Given the description of an element on the screen output the (x, y) to click on. 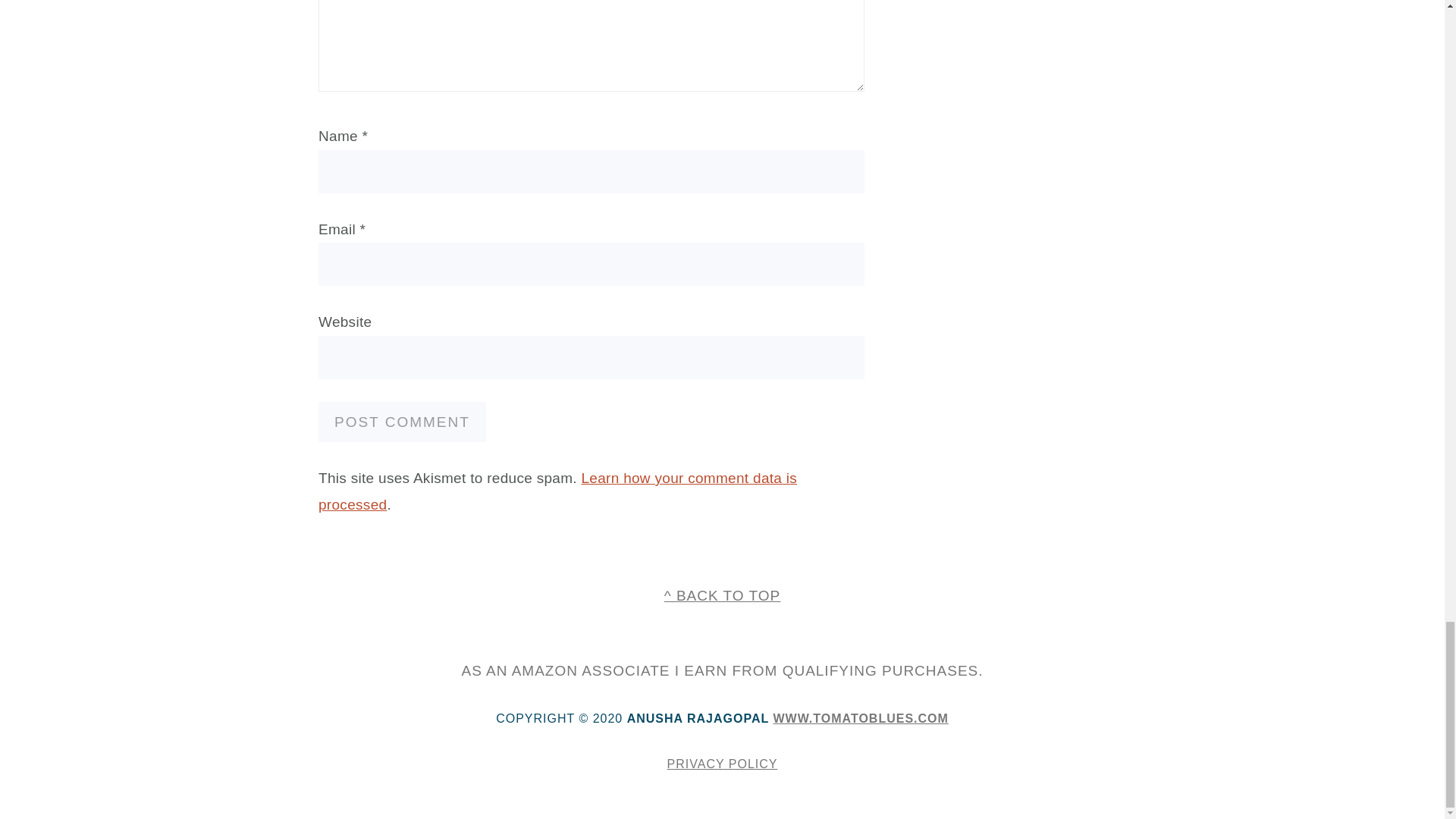
PRIVACY POLICY (721, 763)
WWW.TOMATOBLUES.COM (860, 717)
Post Comment (402, 422)
Post Comment (402, 422)
Learn how your comment data is processed (557, 491)
